Given the description of an element on the screen output the (x, y) to click on. 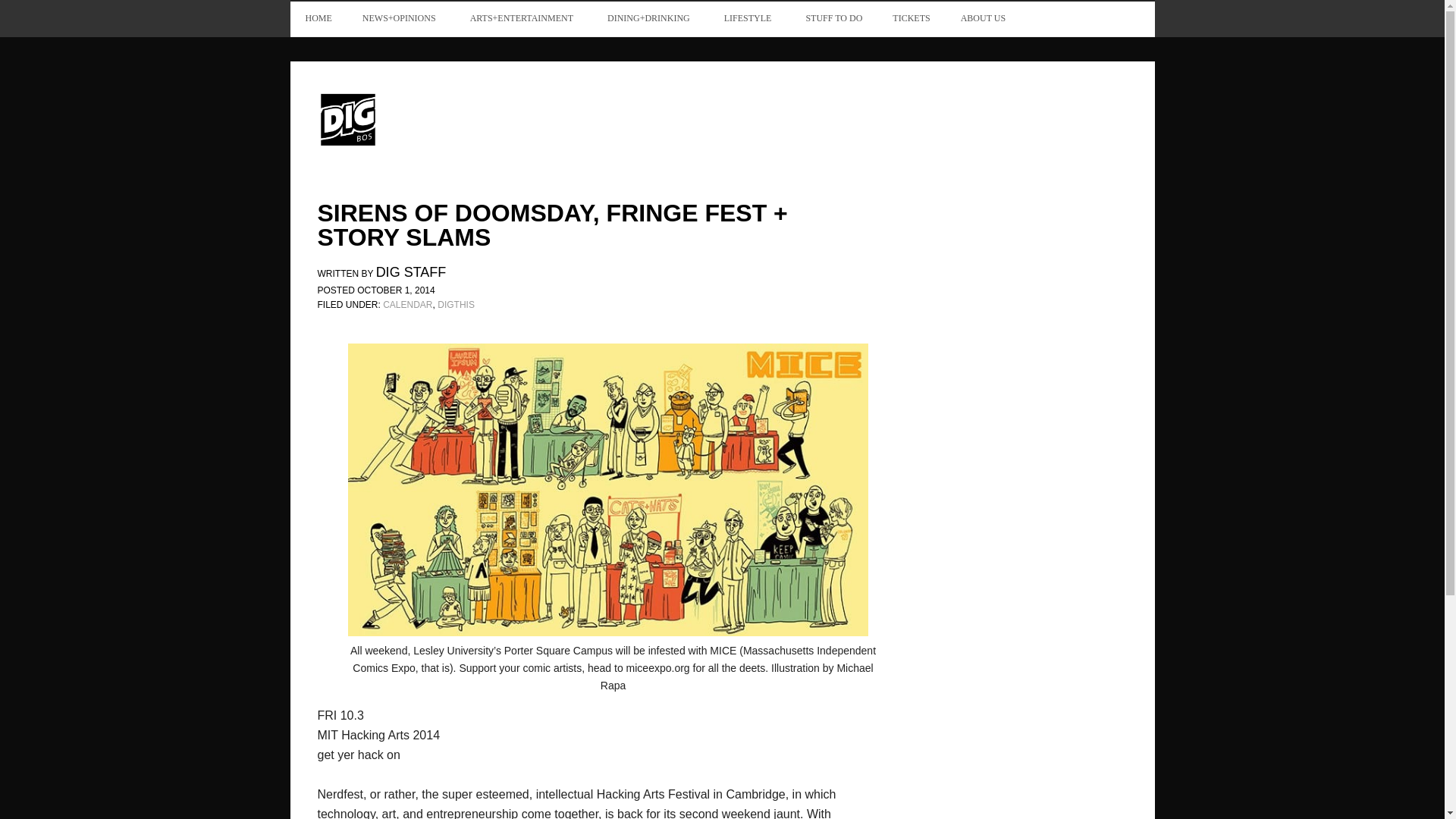
DIG BOS (419, 118)
DIGTHIS (456, 304)
STUFF TO DO (833, 18)
TICKETS (910, 18)
LIFESTYLE (749, 18)
HOME (317, 18)
DIG STAFF (410, 273)
CALENDAR (407, 304)
